Given the description of an element on the screen output the (x, y) to click on. 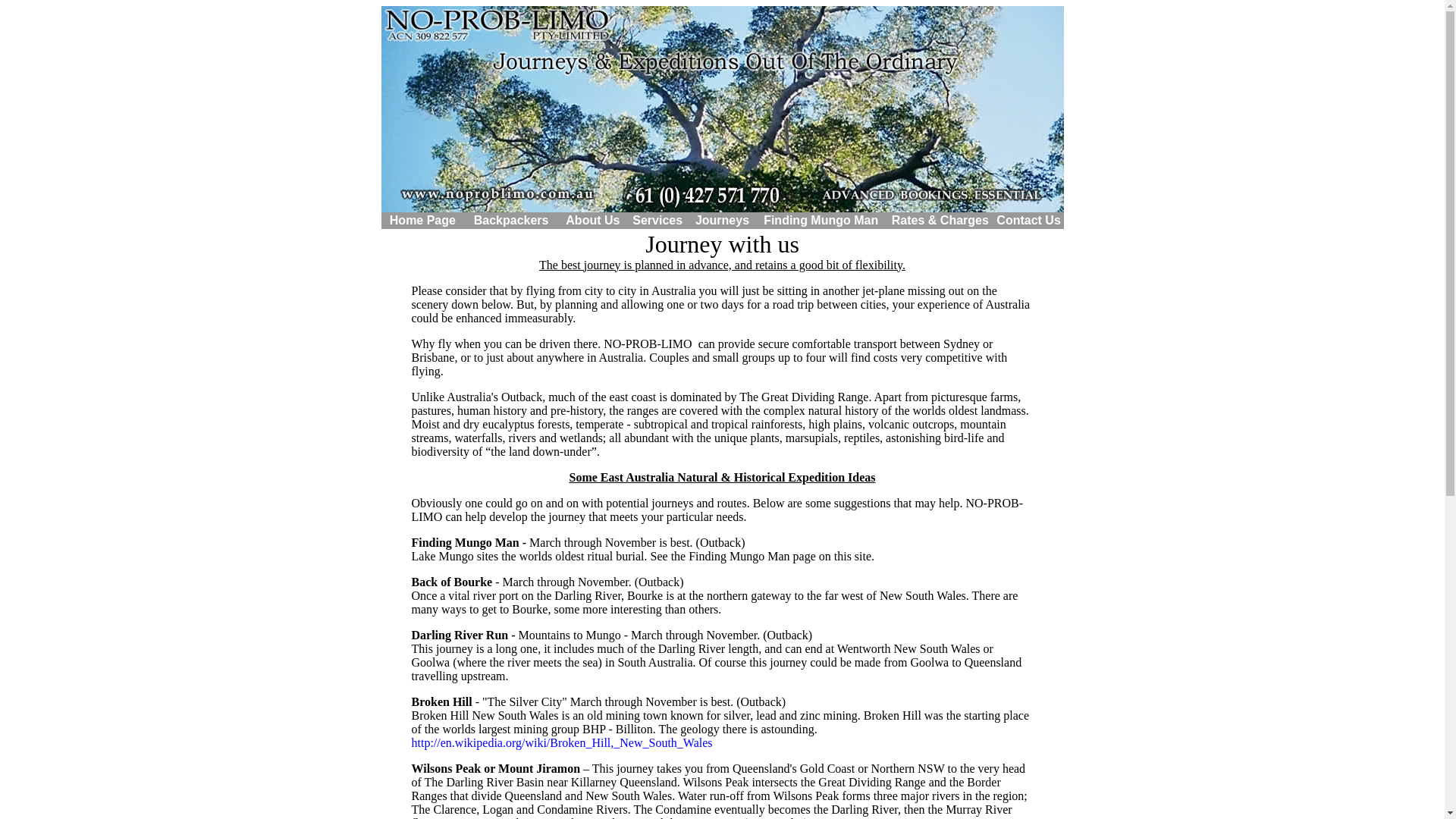
Rates & Charges Element type: text (939, 219)
Services Element type: text (657, 219)
Backpackers Element type: text (511, 219)
Journeys Element type: text (722, 219)
Contact Us Element type: text (1028, 219)
Finding Mungo Man Element type: text (820, 219)
Home Page Element type: text (422, 219)
About Us Element type: text (592, 219)
http://en.wikipedia.org/wiki/Broken_Hill,_New_South_Wales Element type: text (561, 741)
